Given the description of an element on the screen output the (x, y) to click on. 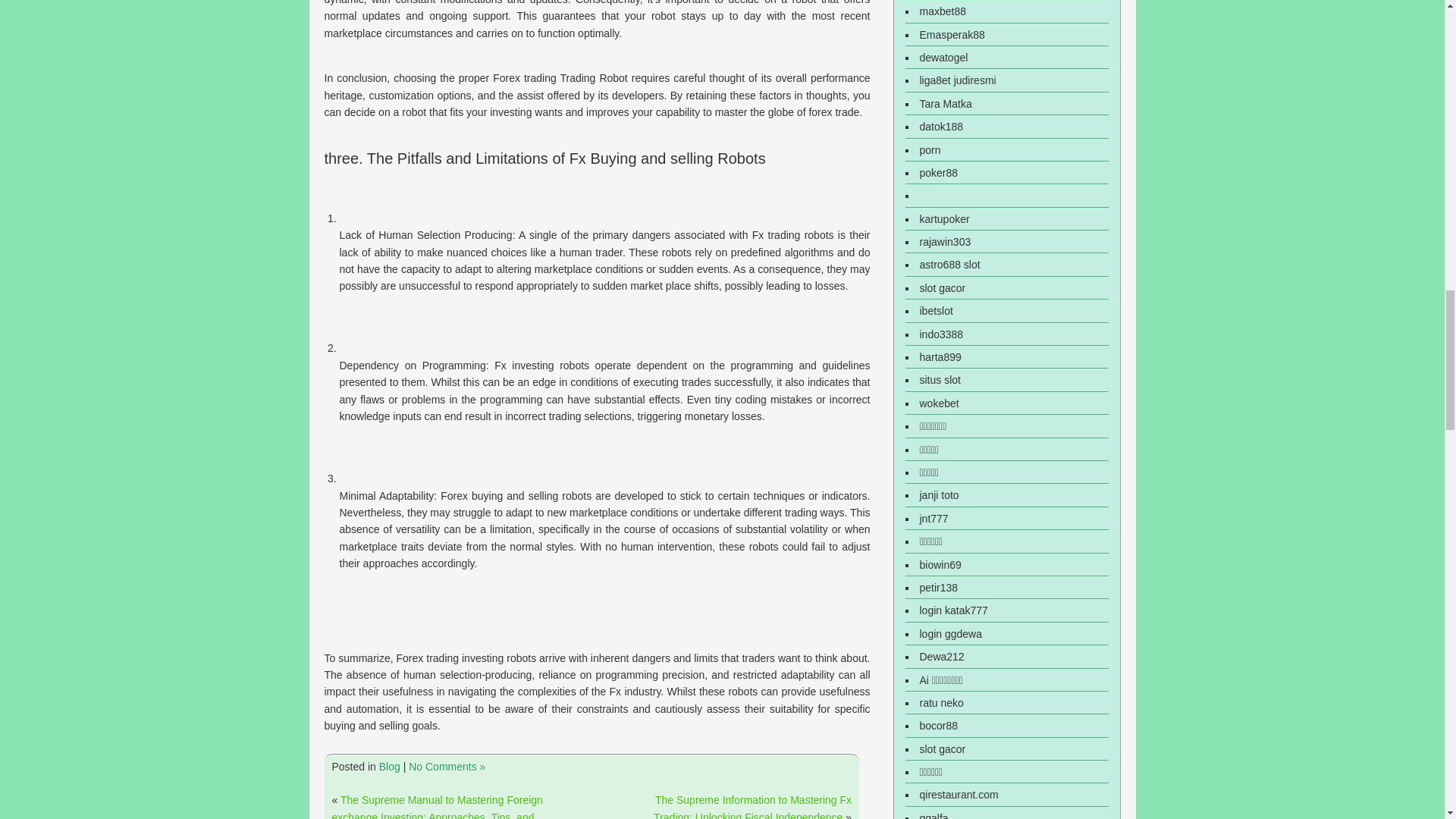
Blog (389, 766)
